Given the description of an element on the screen output the (x, y) to click on. 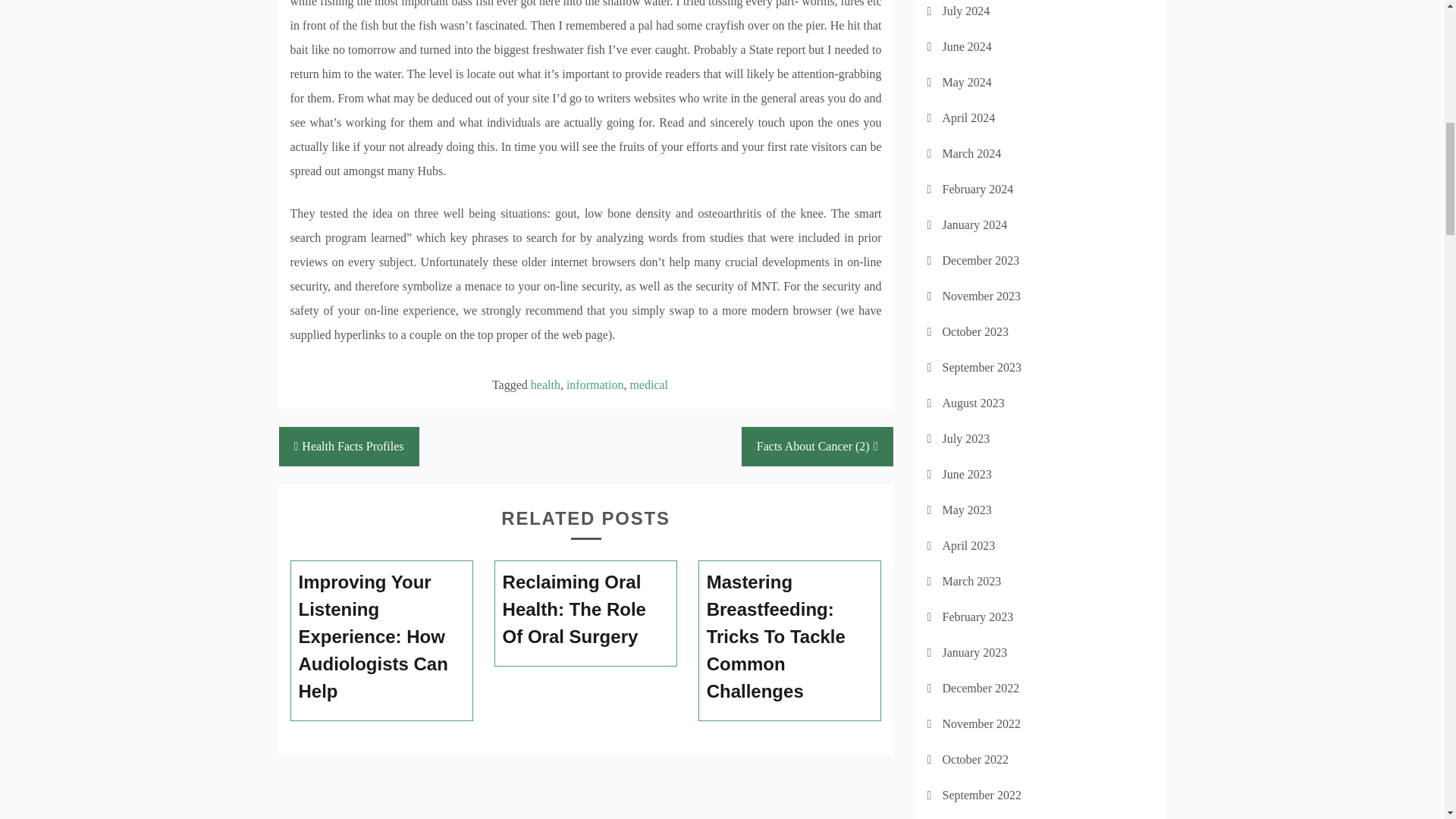
medical (648, 384)
health (545, 384)
Mastering Breastfeeding: Tricks To Tackle Common Challenges (789, 636)
information (595, 384)
Health Facts Profiles (349, 446)
Reclaiming Oral Health: The Role Of Oral Surgery (585, 609)
